Given the description of an element on the screen output the (x, y) to click on. 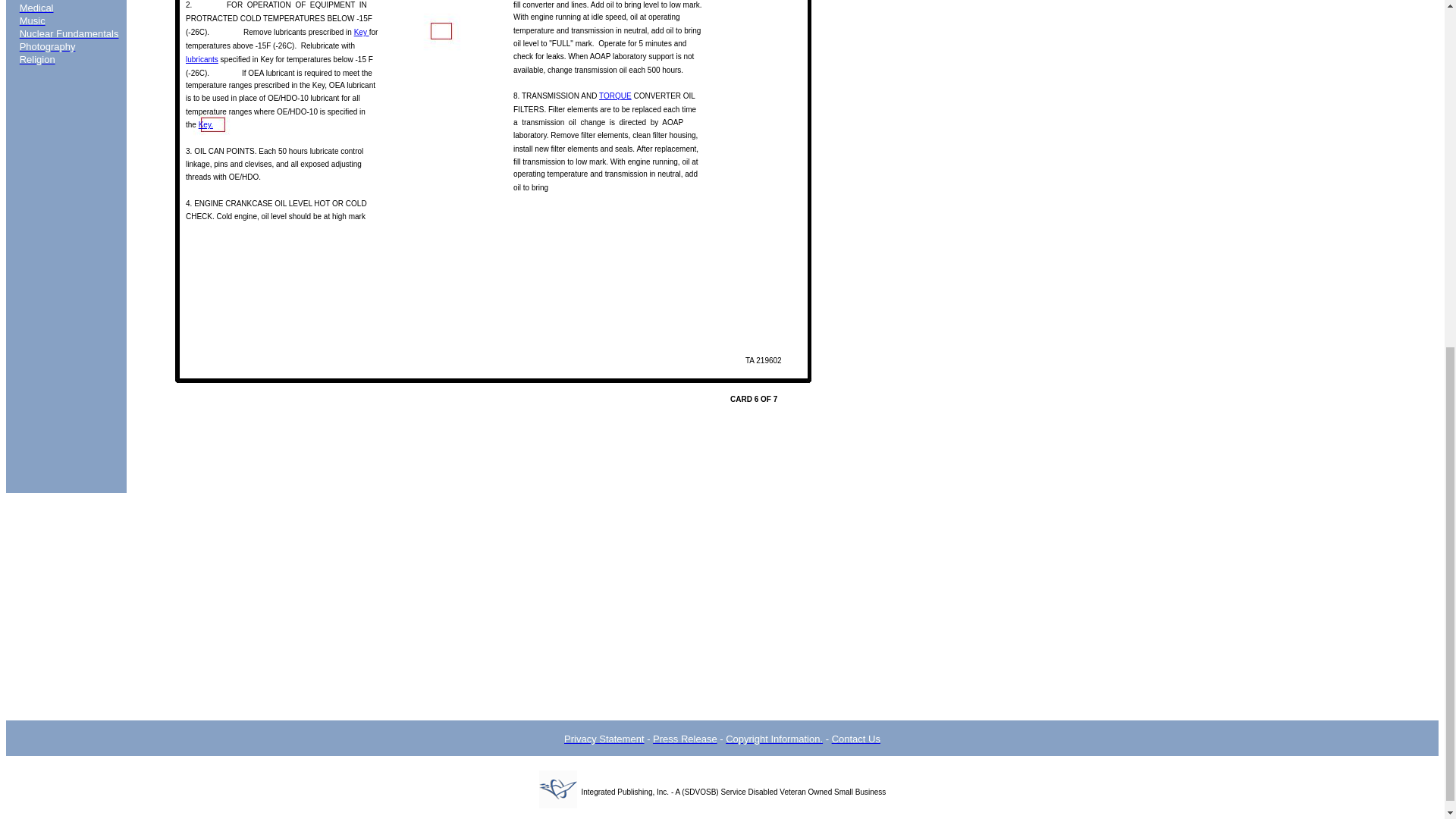
Medical (36, 7)
Contact Us (855, 738)
Photography (47, 46)
Religion (37, 59)
Music (32, 20)
Copyright Information. (773, 738)
Key. (205, 124)
lubricants (202, 59)
Press Release (684, 738)
Nuclear Fundamentals (69, 33)
Key (361, 31)
Privacy Statement (604, 738)
TORQUE (614, 95)
